Given the description of an element on the screen output the (x, y) to click on. 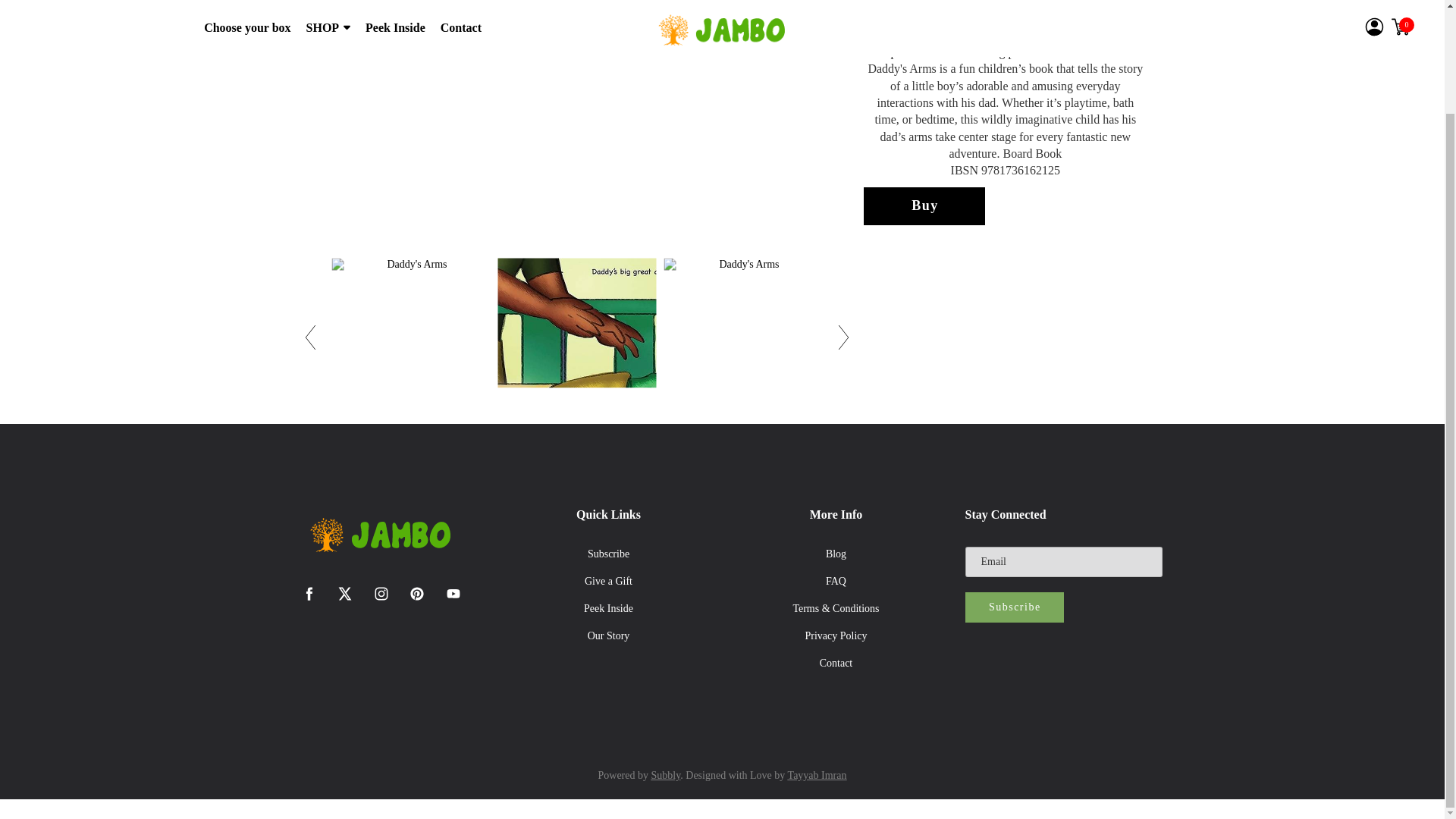
Daddy's Arms (410, 336)
Blog (835, 553)
Subscribe (608, 553)
Give a Gift (608, 581)
Privacy Policy (835, 635)
Daddy's Arms (742, 336)
Buy (924, 206)
Daddy's Arms (576, 336)
FAQ (835, 581)
Peek Inside (608, 608)
Our Story (608, 635)
